Given the description of an element on the screen output the (x, y) to click on. 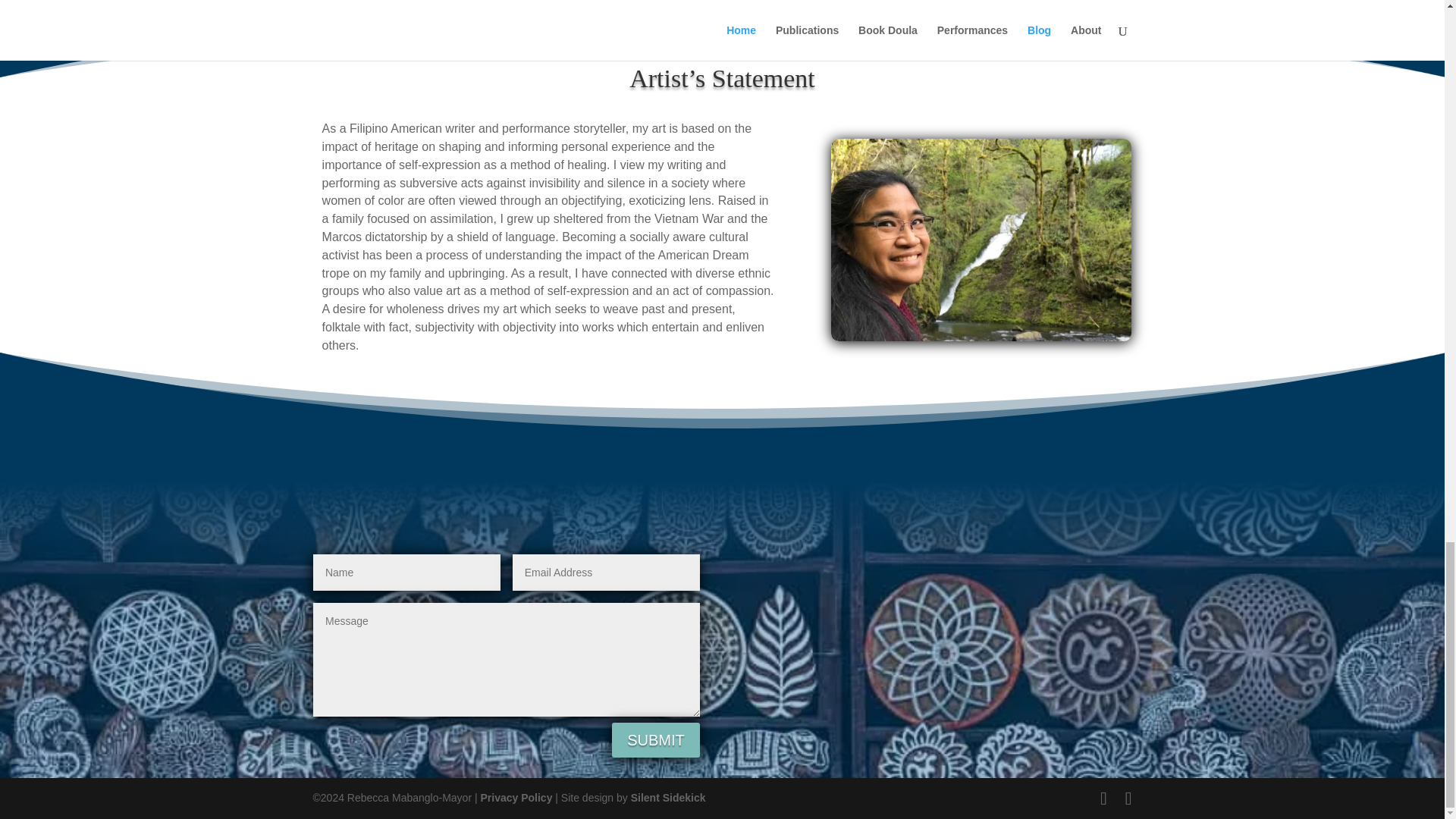
Privacy Policy (515, 797)
Silent Sidekick (666, 797)
SUBMIT (655, 739)
